Given the description of an element on the screen output the (x, y) to click on. 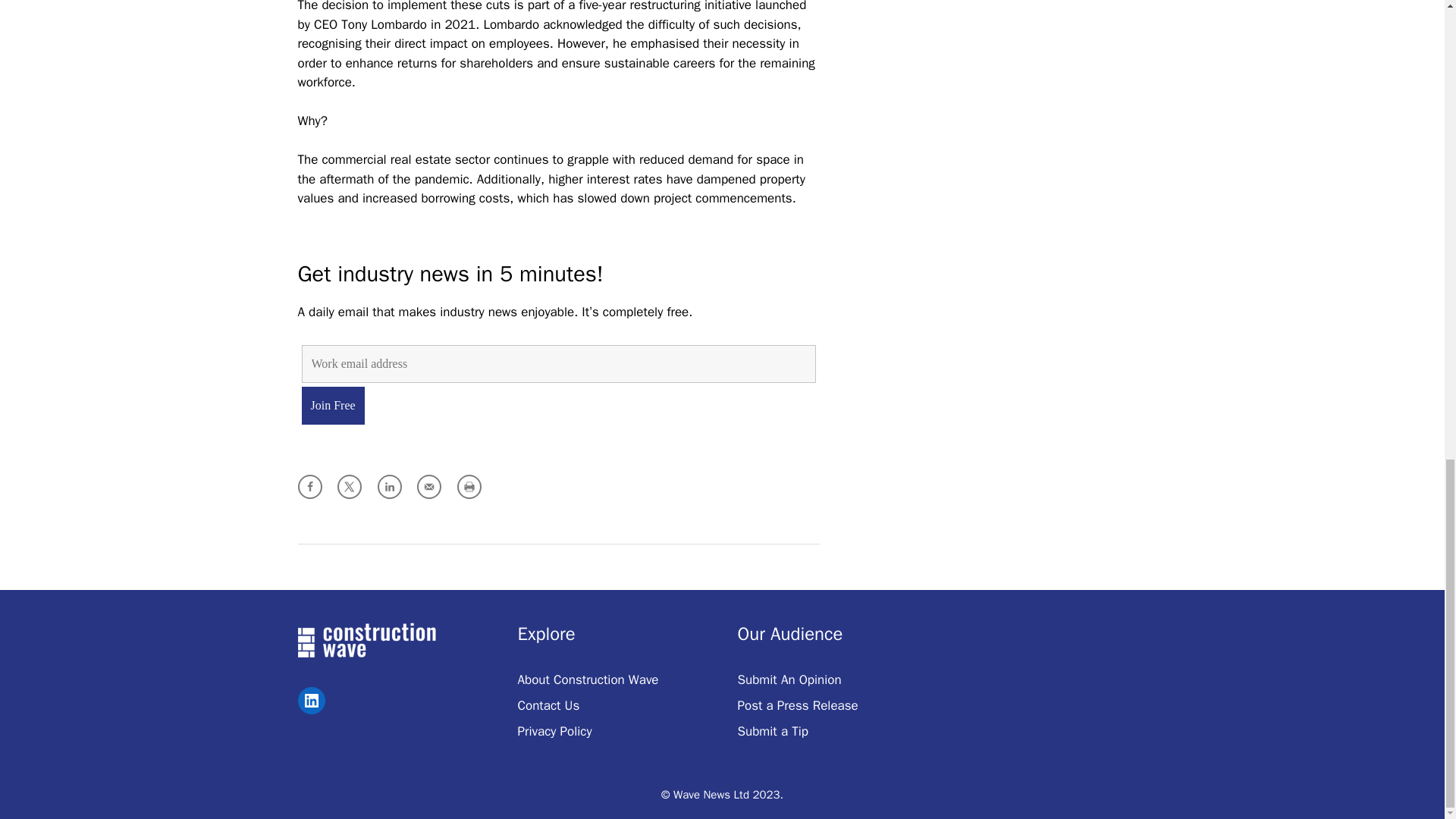
Print this webpage (469, 486)
Join Free (333, 405)
Share on X (349, 486)
Join Free (333, 405)
LinkedIn (310, 700)
Share on Facebook (309, 486)
Share on LinkedIn (389, 486)
Send over email (428, 486)
